Given the description of an element on the screen output the (x, y) to click on. 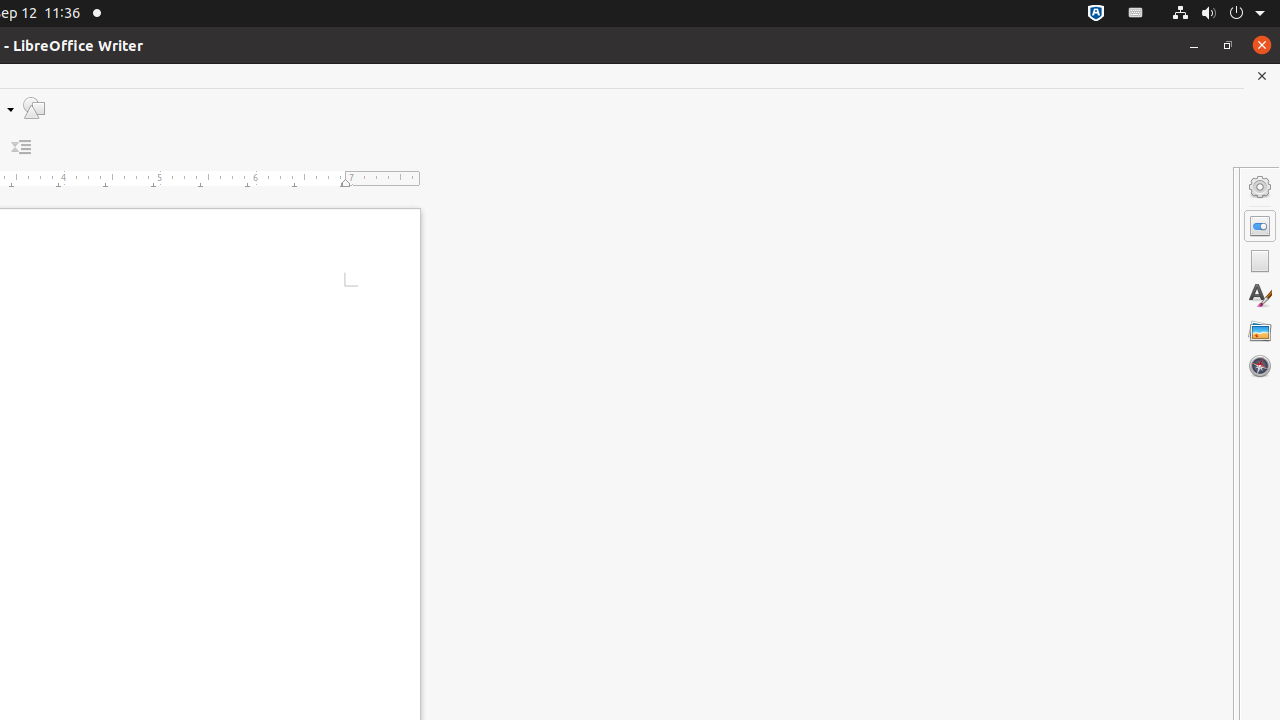
Decrease Element type: push-button (21, 147)
org.kde.StatusNotifierItem-14077-1 Element type: menu (1136, 13)
Properties Element type: radio-button (1260, 226)
Page Element type: radio-button (1260, 261)
System Element type: menu (1218, 13)
